Given the description of an element on the screen output the (x, y) to click on. 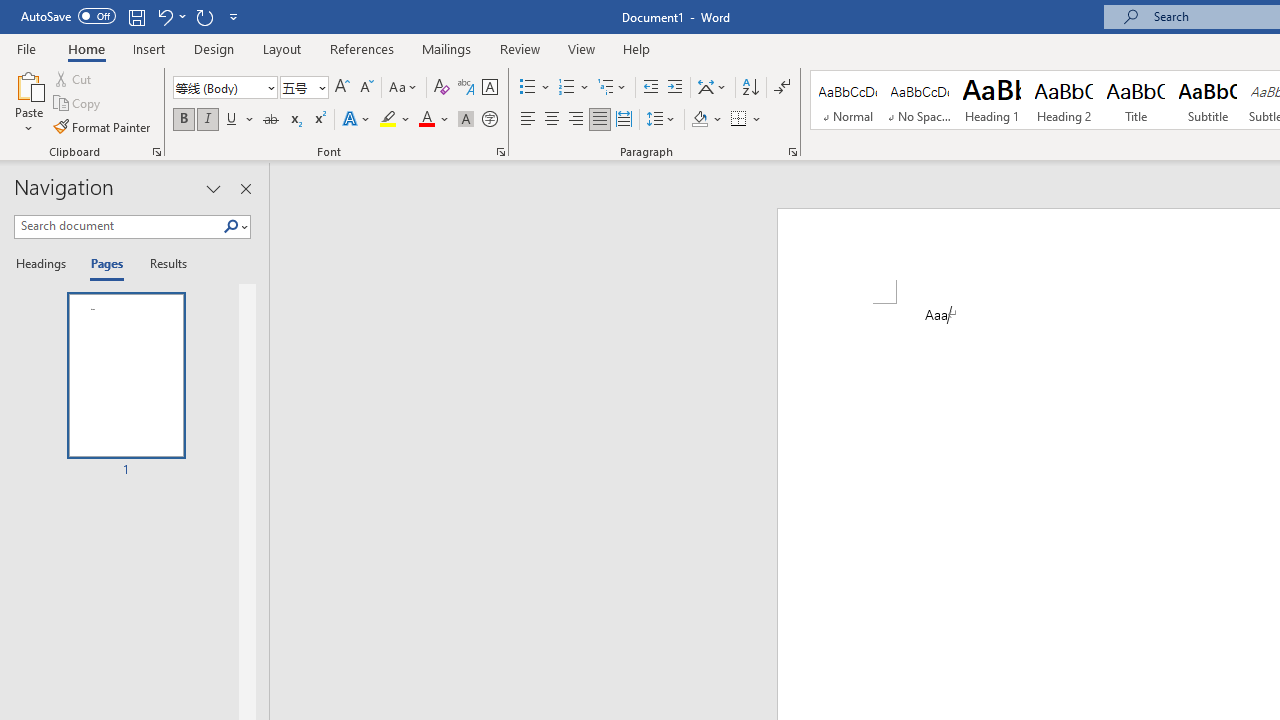
Font Color Red (426, 119)
